Given the description of an element on the screen output the (x, y) to click on. 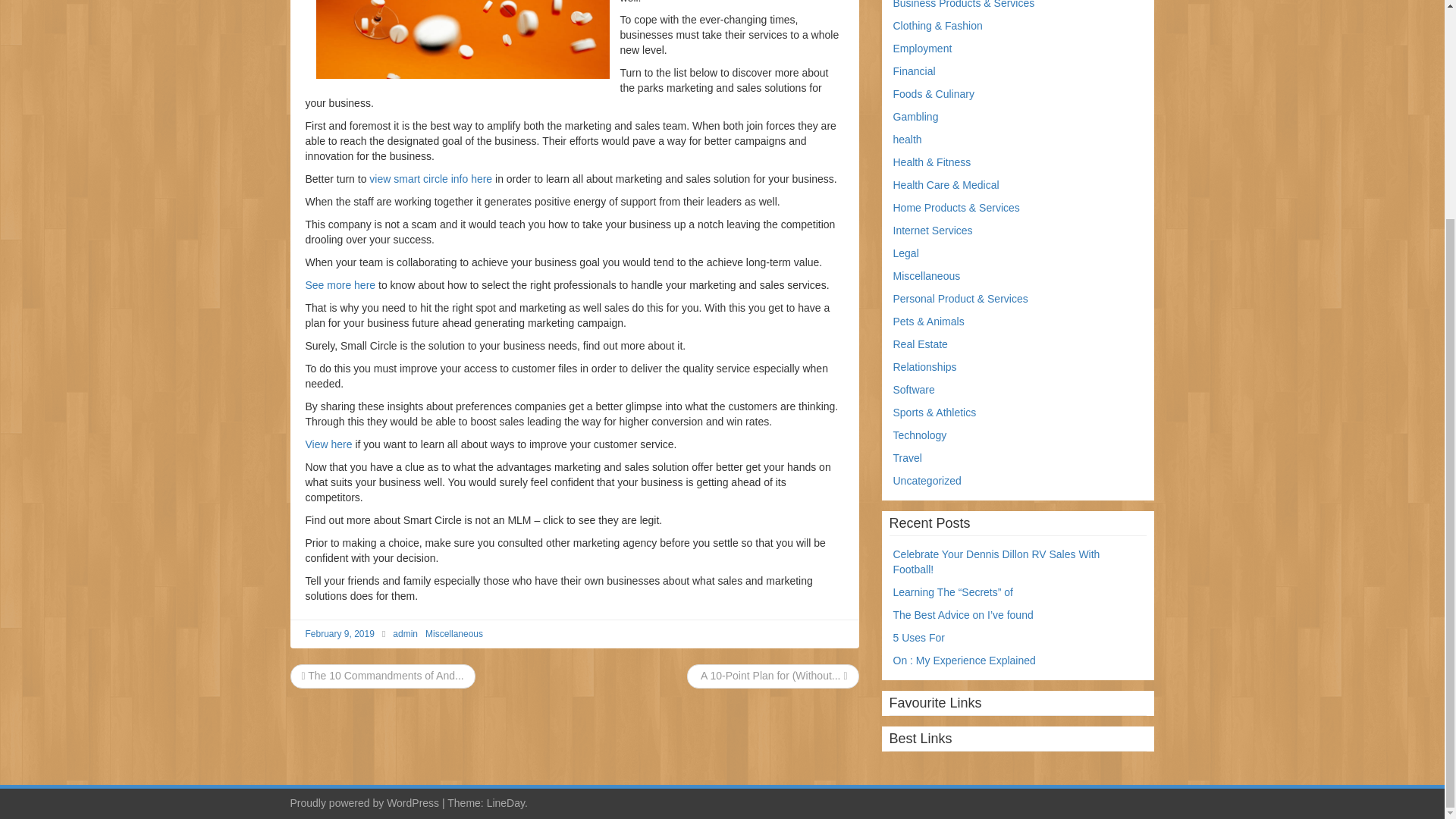
health (907, 139)
Travel (907, 458)
Employment (922, 48)
Real Estate (920, 344)
Gambling (916, 116)
See more here (339, 285)
Relationships (924, 367)
 The 10 Commandments of And... (382, 675)
Technology (920, 435)
View here (328, 444)
Legal (905, 253)
Financial (914, 70)
Software (913, 389)
Celebrate Your Dennis Dillon RV Sales With Football! (996, 561)
view smart circle info here (430, 178)
